Given the description of an element on the screen output the (x, y) to click on. 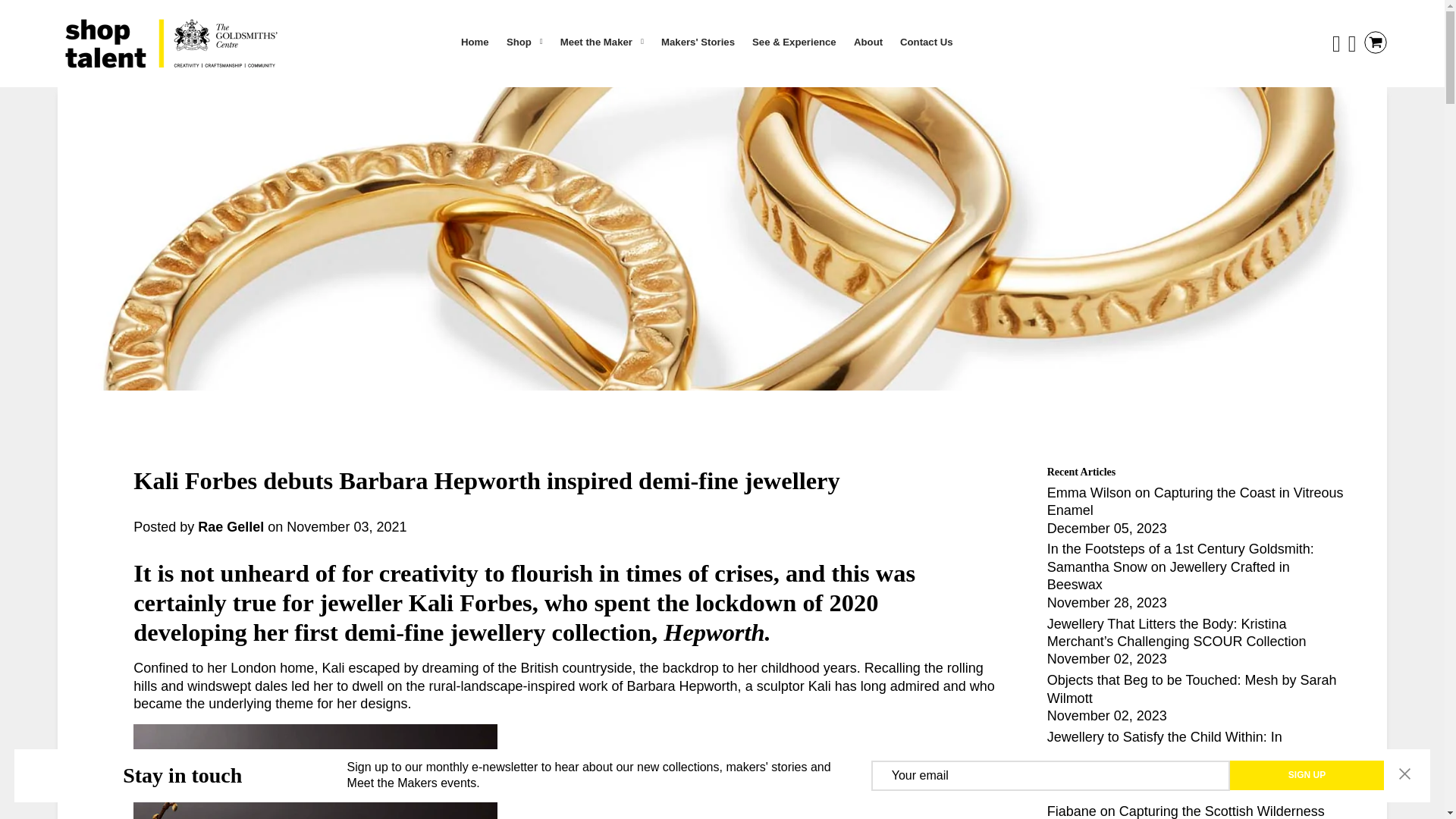
Shop (524, 41)
Home (474, 41)
Meet the Maker (601, 41)
